Given the description of an element on the screen output the (x, y) to click on. 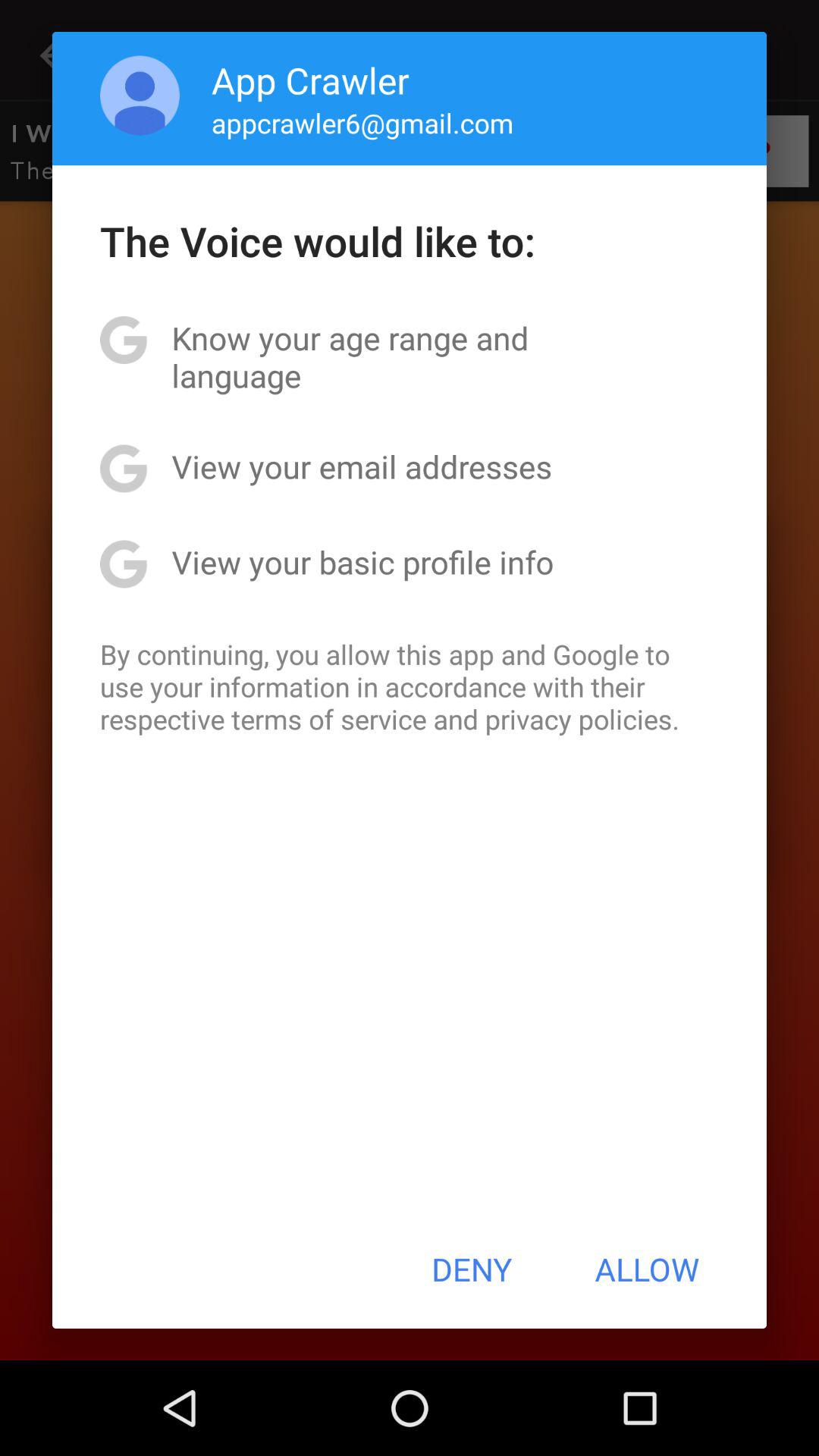
tap icon above the voice would icon (362, 122)
